Given the description of an element on the screen output the (x, y) to click on. 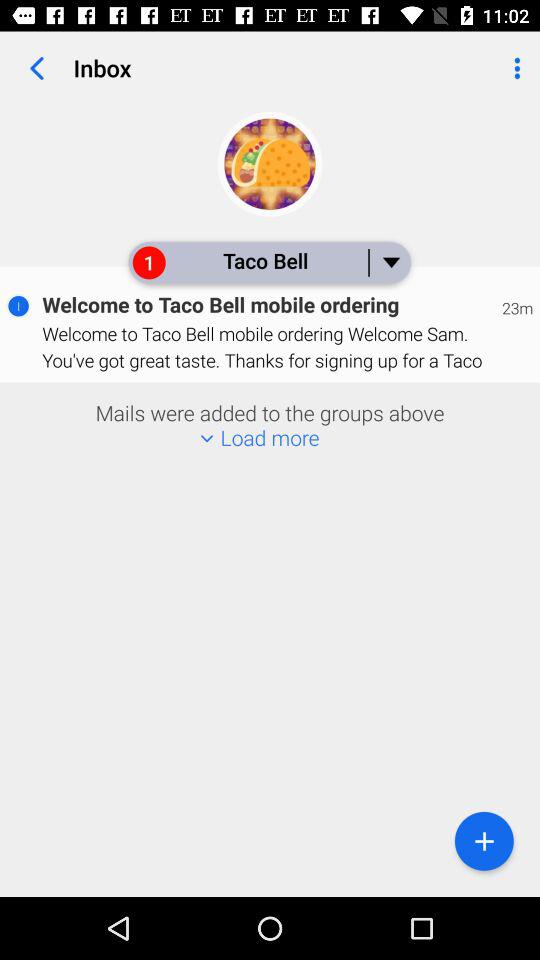
turn off item below welcome to taco icon (483, 840)
